Given the description of an element on the screen output the (x, y) to click on. 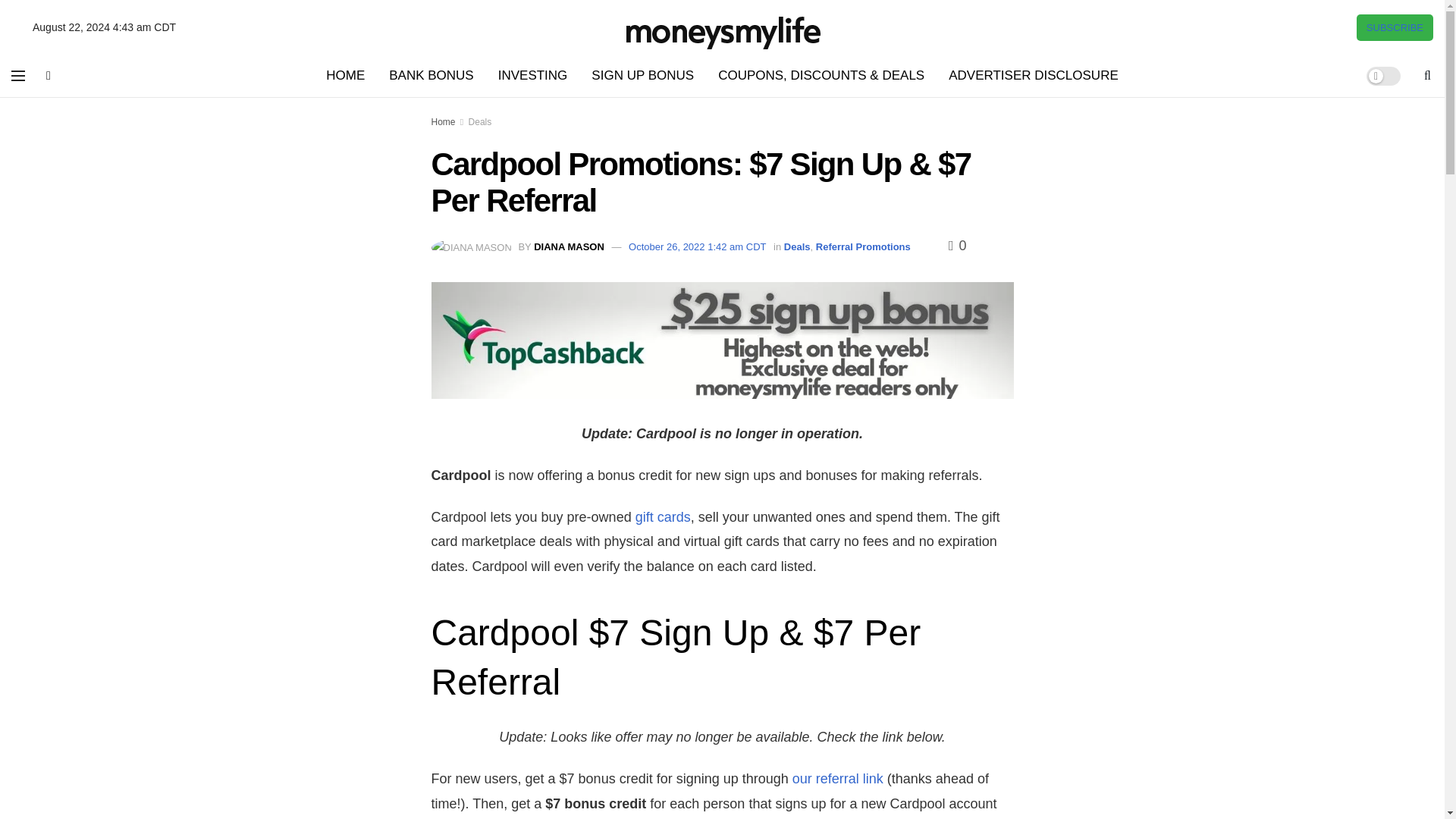
HOME (345, 75)
BANK BONUS (430, 75)
SUBSCRIBE (1394, 26)
SIGN UP BONUS (642, 75)
INVESTING (532, 75)
